Given the description of an element on the screen output the (x, y) to click on. 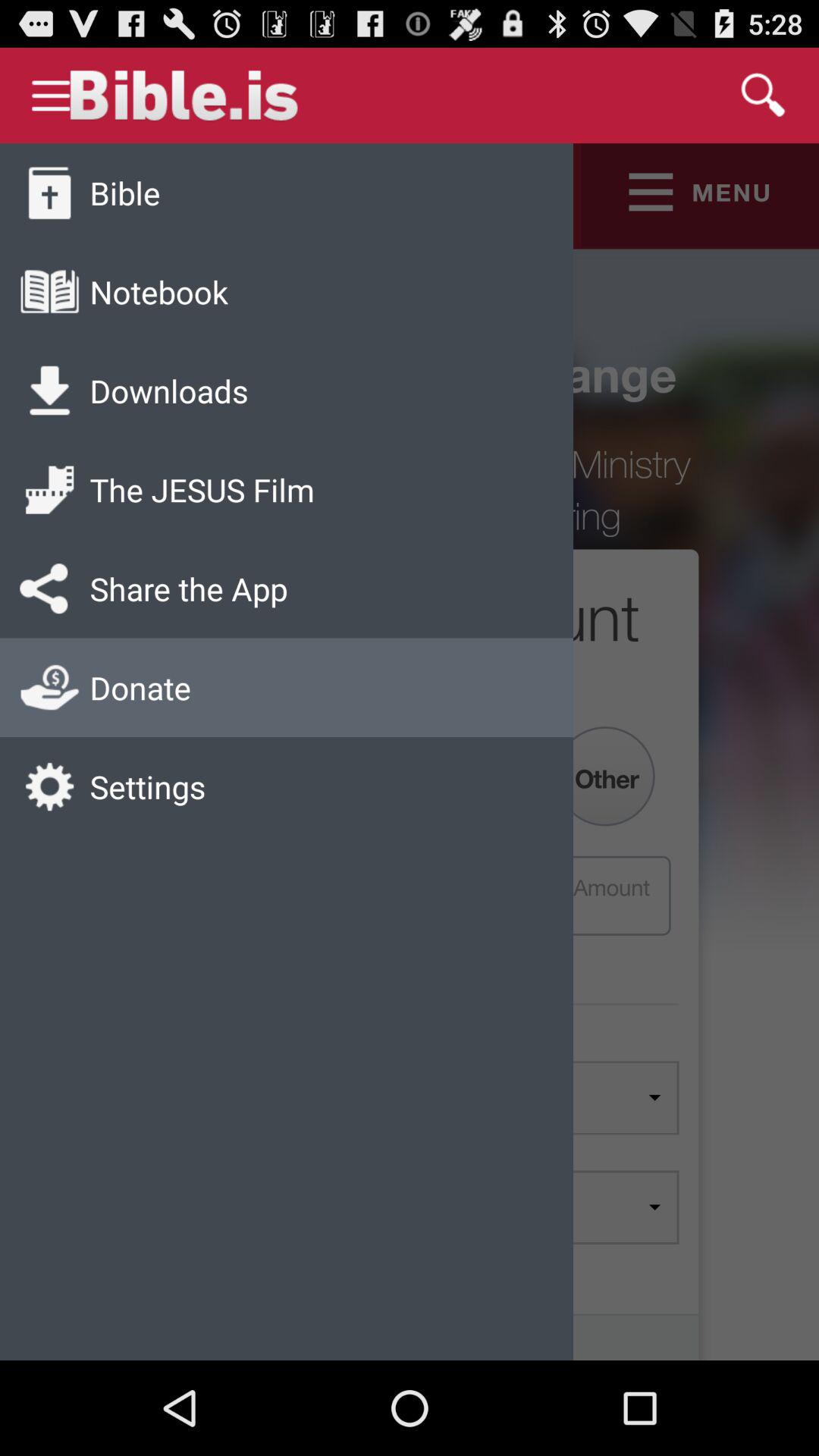
open the bible icon (124, 192)
